Given the description of an element on the screen output the (x, y) to click on. 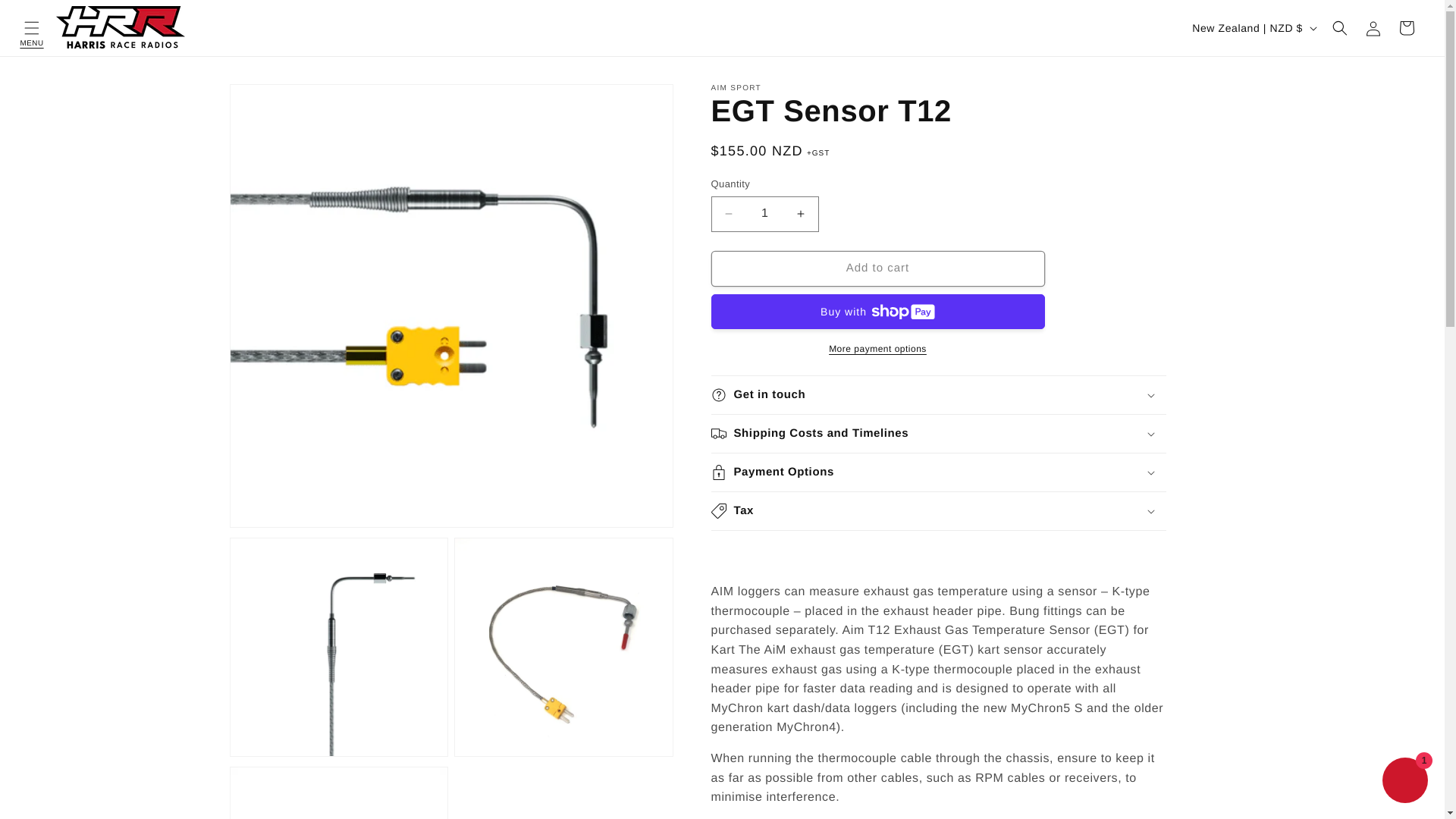
1 (764, 212)
Skip to content (45, 17)
Shopify online store chat (1404, 781)
